Given the description of an element on the screen output the (x, y) to click on. 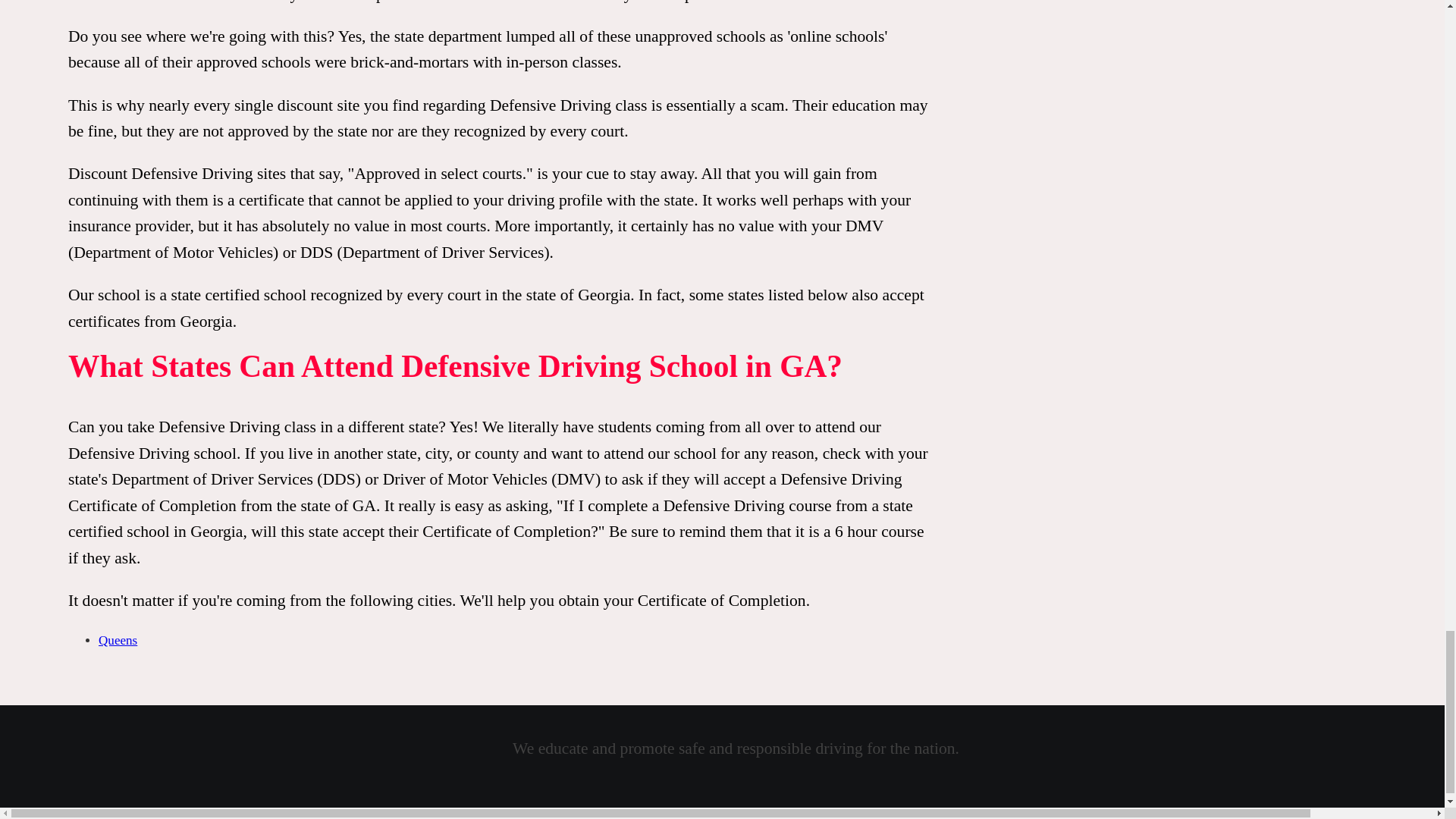
Queens (117, 640)
